Given the description of an element on the screen output the (x, y) to click on. 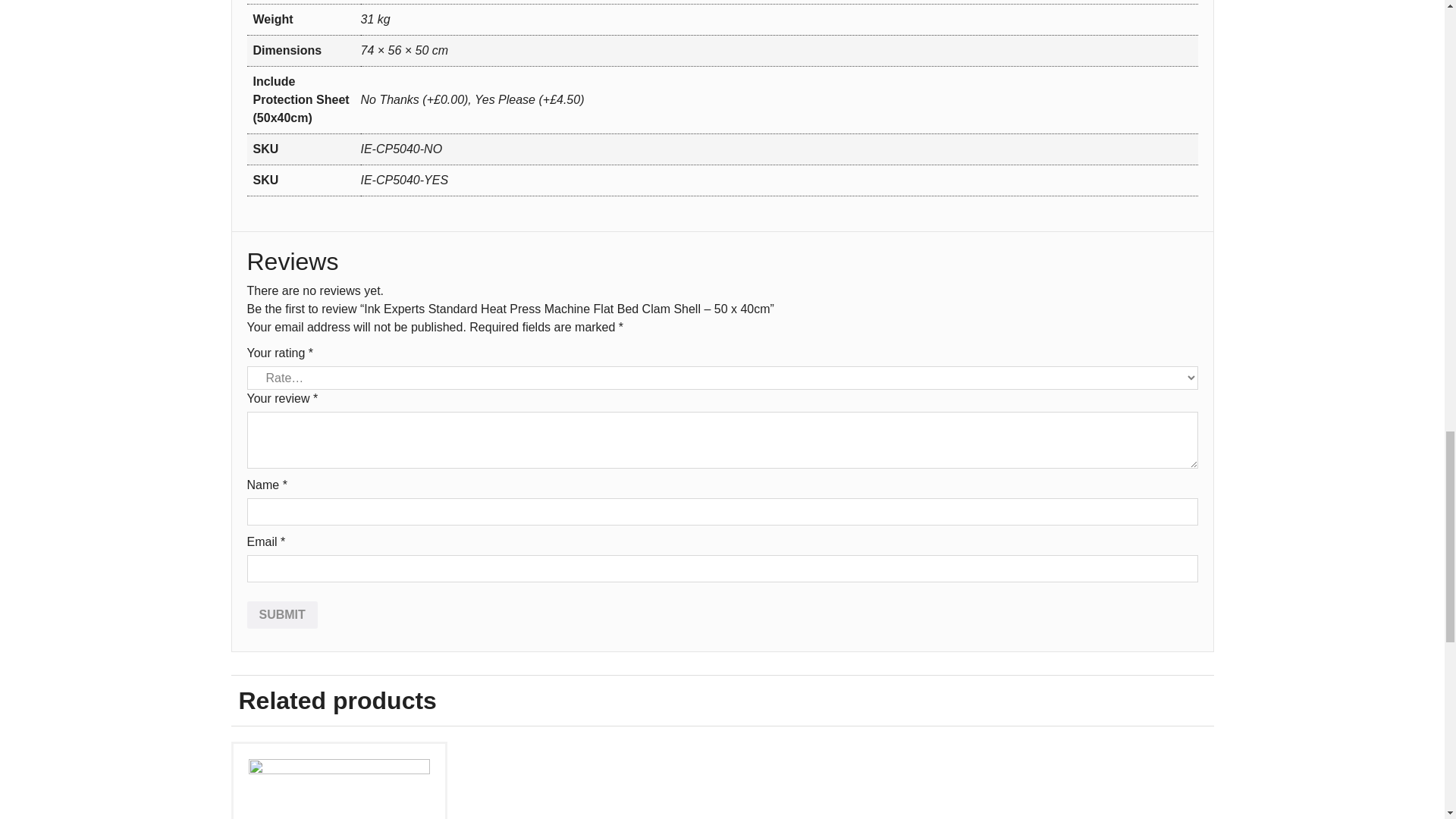
Submit (282, 614)
